Given the description of an element on the screen output the (x, y) to click on. 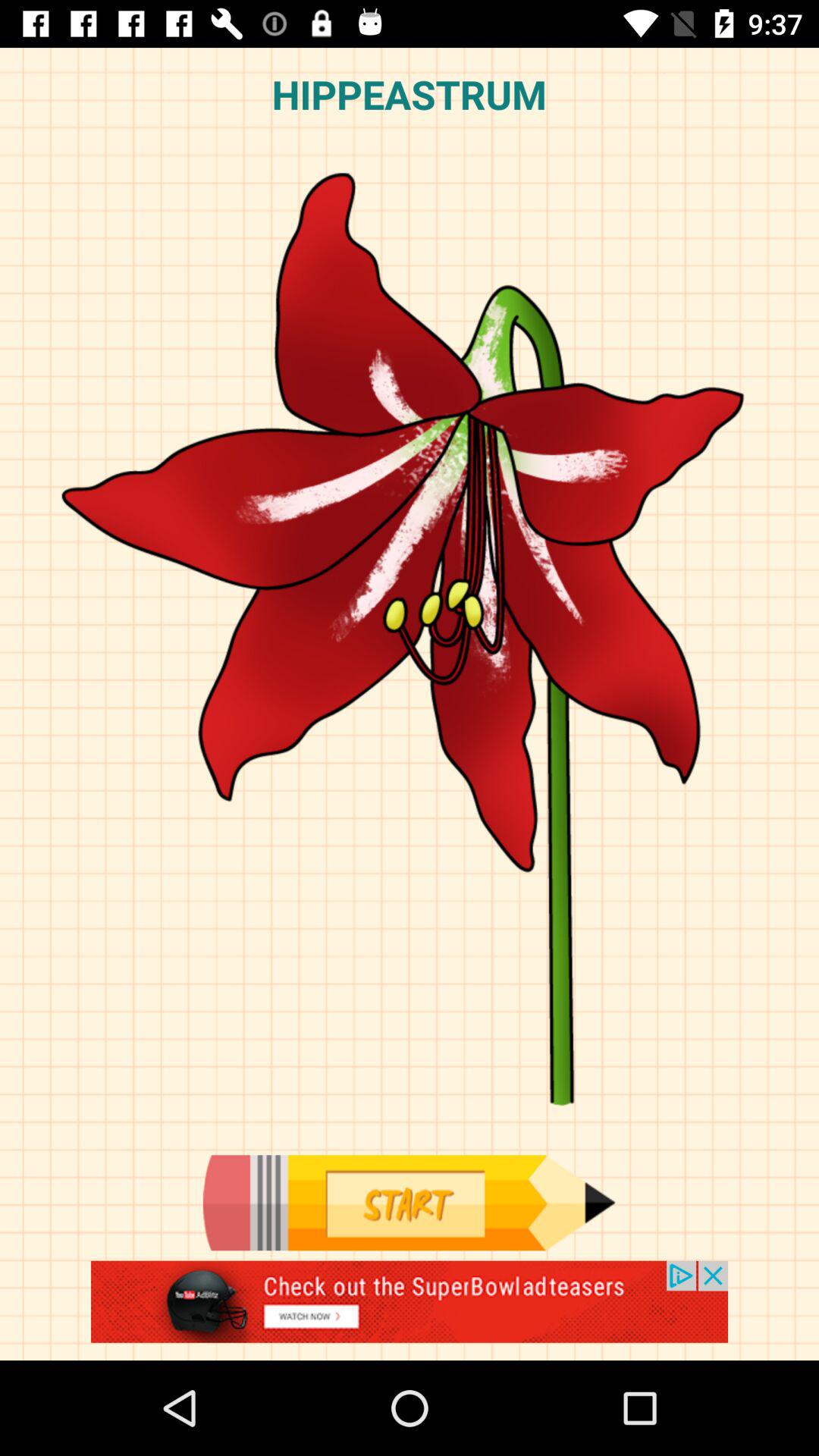
start drawing (409, 1202)
